Given the description of an element on the screen output the (x, y) to click on. 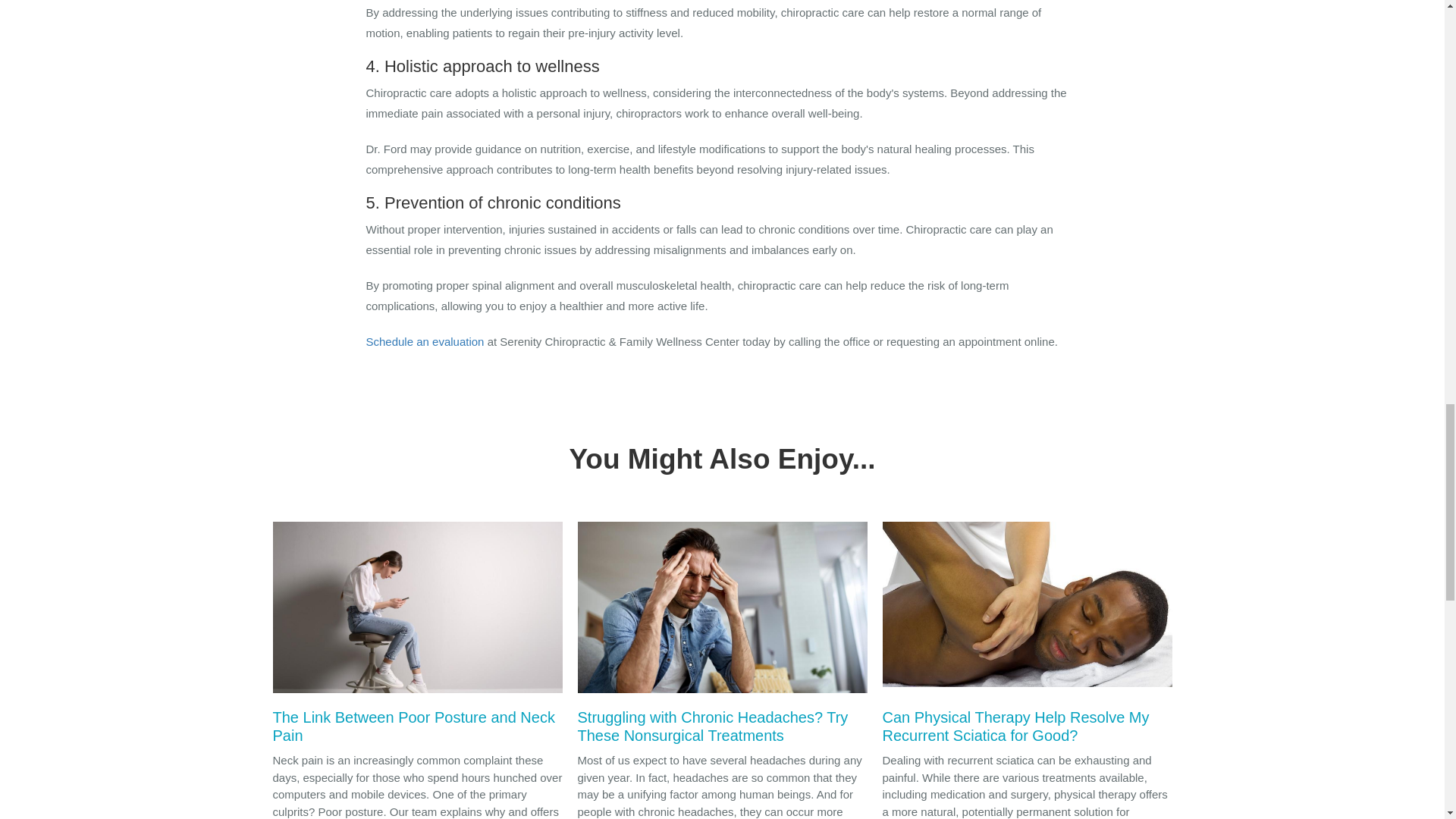
The Link Between Poor Posture and Neck Pain (417, 636)
Schedule an evaluation (424, 341)
